Given the description of an element on the screen output the (x, y) to click on. 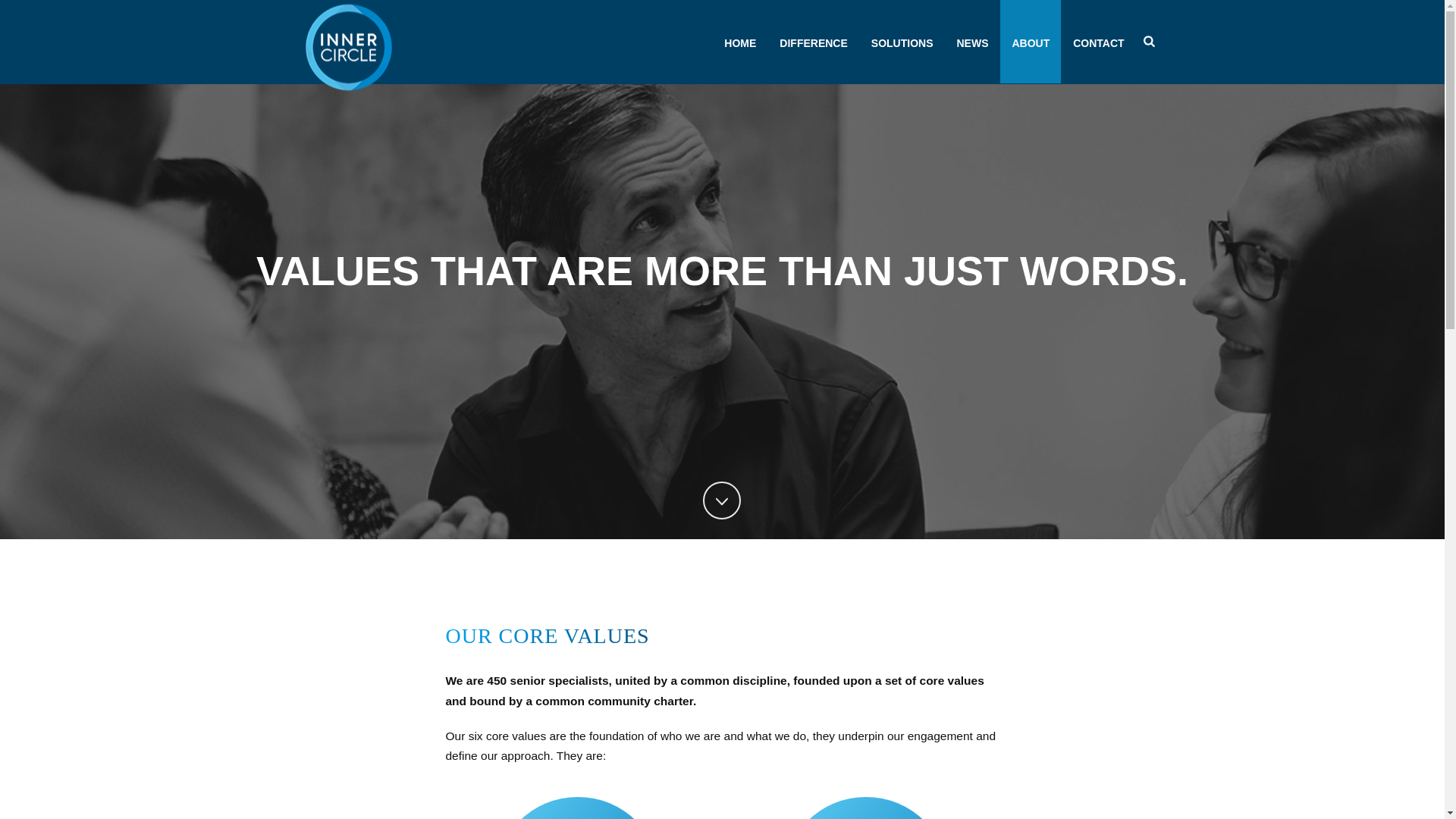
SOLUTIONS (902, 41)
DIFFERENCE (813, 41)
SOLUTIONS (902, 41)
DIFFERENCE (813, 41)
Consulting. Evolved. (347, 45)
